Given the description of an element on the screen output the (x, y) to click on. 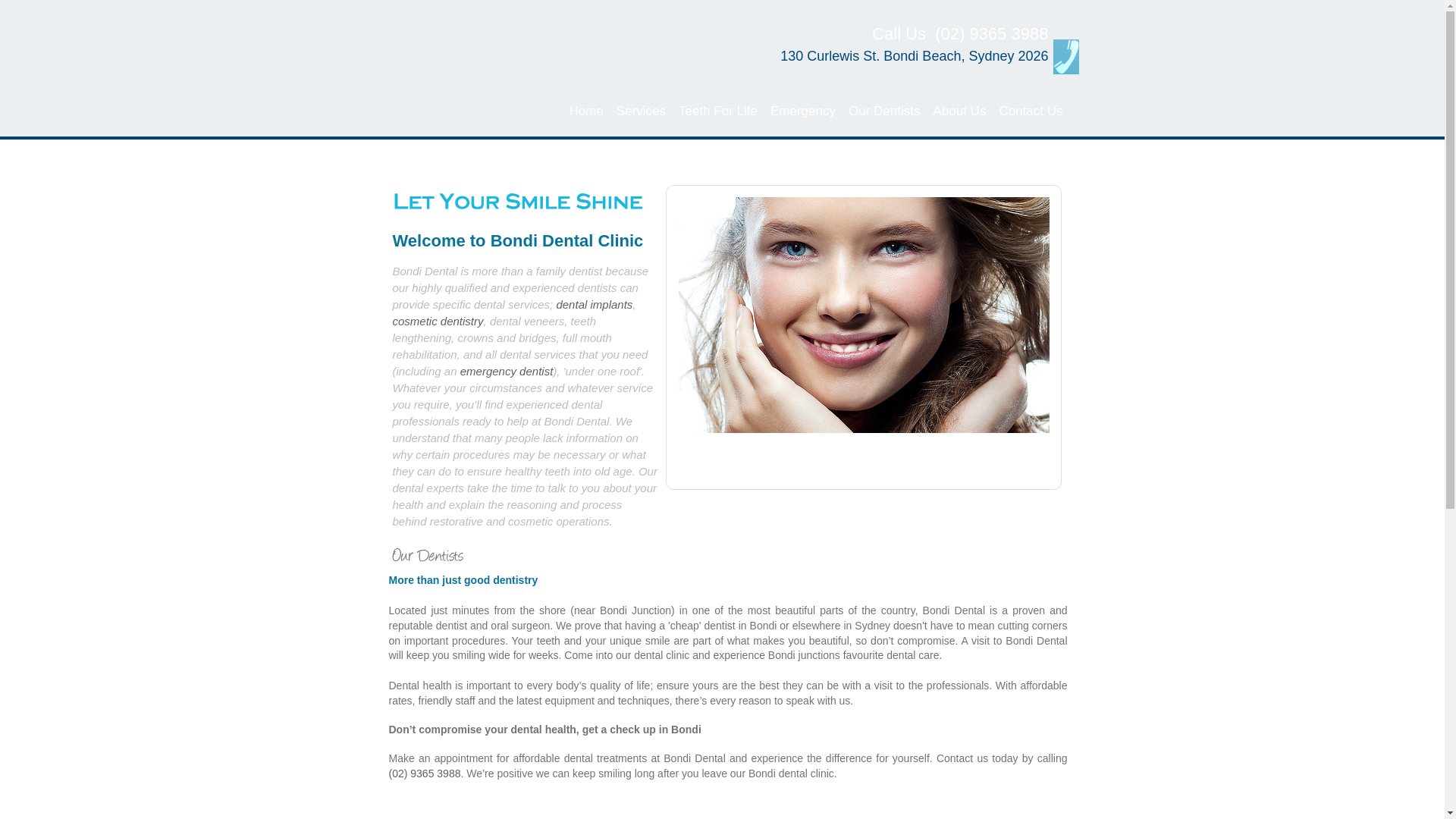
Contact Us Element type: text (1029, 111)
2 Element type: text (856, 502)
emergency dentist Element type: text (506, 370)
Teeth For Life Element type: text (717, 111)
Services Element type: text (640, 111)
3 Element type: text (869, 502)
Home Element type: text (585, 111)
Emergency Element type: text (802, 111)
4 Element type: text (883, 502)
dental implants Element type: text (593, 304)
1 Element type: text (842, 502)
(02) 9365 3988 Element type: text (424, 773)
Our Dentists Element type: text (883, 111)
(02) 9365 3988 Element type: text (991, 33)
About Us Element type: text (958, 111)
cosmetic dentistry Element type: text (437, 320)
